Given the description of an element on the screen output the (x, y) to click on. 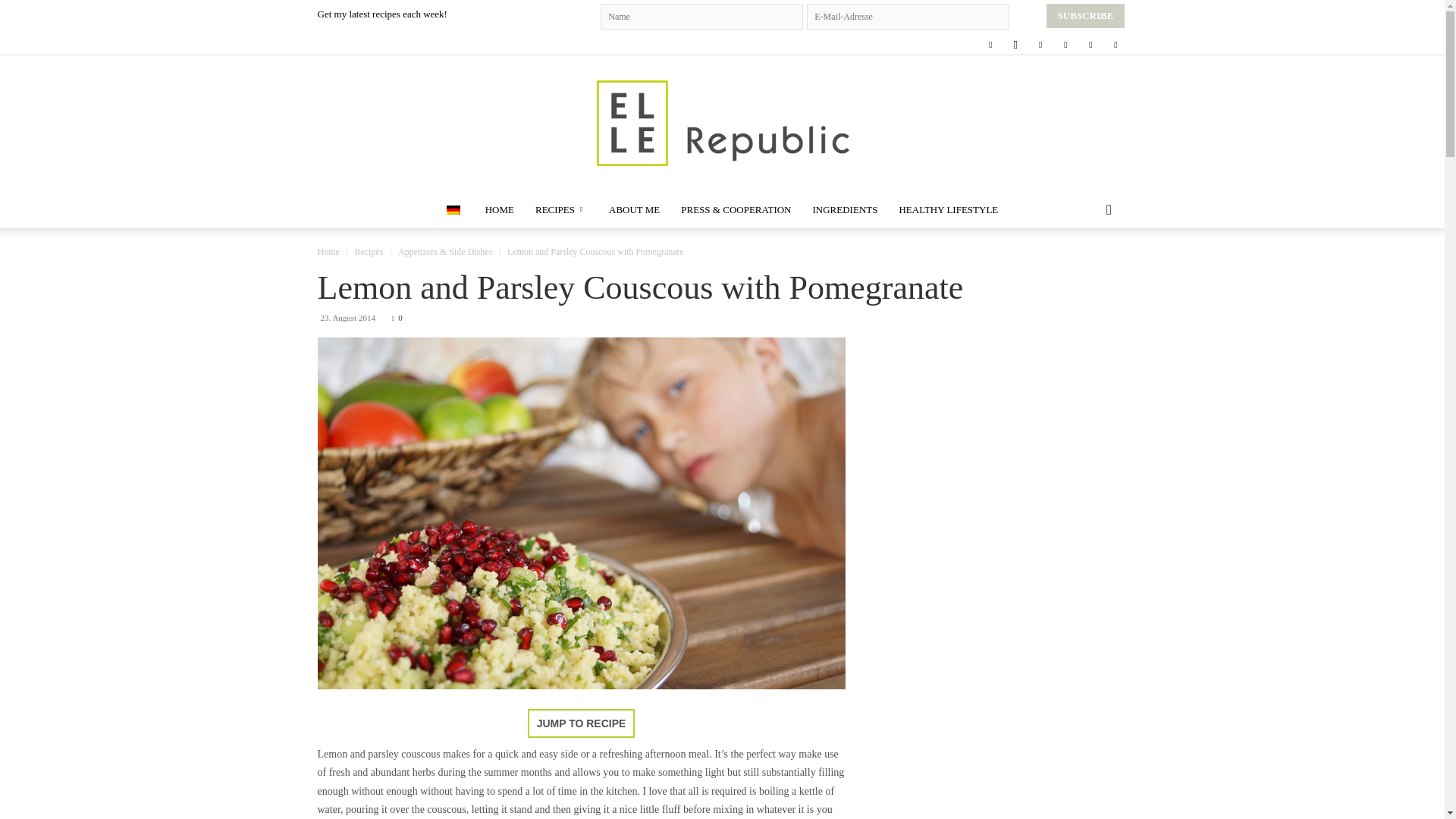
RECIPES (561, 209)
HOME (499, 209)
Subscribe (1085, 15)
Subscribe (1085, 15)
